Given the description of an element on the screen output the (x, y) to click on. 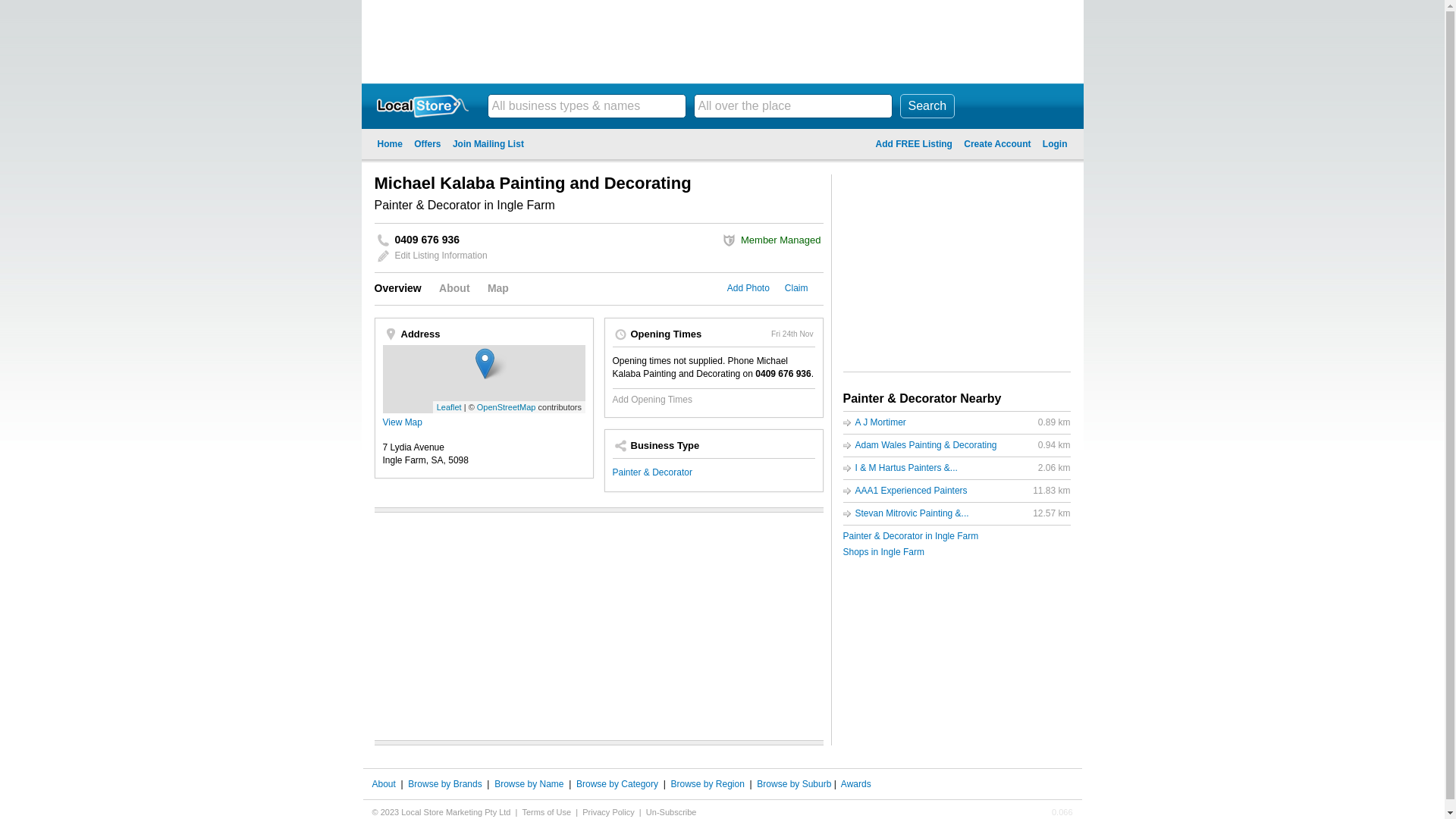
Add Photo Element type: text (748, 287)
Home Element type: text (390, 143)
Awards Element type: text (855, 783)
Privacy Policy Element type: text (607, 811)
Browse by Name Element type: text (528, 783)
LocalStore Element type: hover (421, 105)
Create Account Element type: text (997, 143)
Painter & Decorator Element type: text (652, 472)
Overview Element type: text (397, 288)
Add FREE Listing Element type: text (914, 143)
All over the place Element type: hover (792, 106)
Advertisement Element type: hover (721, 41)
Claim Element type: text (796, 287)
I & M Hartus Painters &... Element type: text (906, 467)
Stevan Mitrovic Painting &... Element type: text (912, 513)
Browse by Suburb Element type: text (793, 783)
Terms of Use Element type: text (546, 811)
Edit Listing Information Element type: text (440, 255)
Browse by Region Element type: text (706, 783)
About Element type: text (454, 288)
Advertisement Element type: hover (956, 269)
Un-Subscribe Element type: text (671, 811)
View Map Element type: text (401, 422)
Advertisement Element type: hover (598, 626)
Shops in Ingle Farm Element type: text (883, 551)
AAA1 Experienced Painters Element type: text (911, 490)
Search Element type: text (926, 106)
Join Mailing List Element type: text (488, 143)
Add Opening Times Element type: text (652, 399)
Offers Element type: text (427, 143)
All business types & names Element type: hover (585, 106)
Adam Wales Painting & Decorating Element type: text (926, 444)
Login Element type: text (1055, 143)
Browse by Brands Element type: text (444, 783)
Map Element type: text (497, 288)
Painter & Decorator in Ingle Farm Element type: text (911, 535)
About Element type: text (383, 783)
A J Mortimer Element type: text (880, 422)
Browse by Category Element type: text (617, 783)
